Given the description of an element on the screen output the (x, y) to click on. 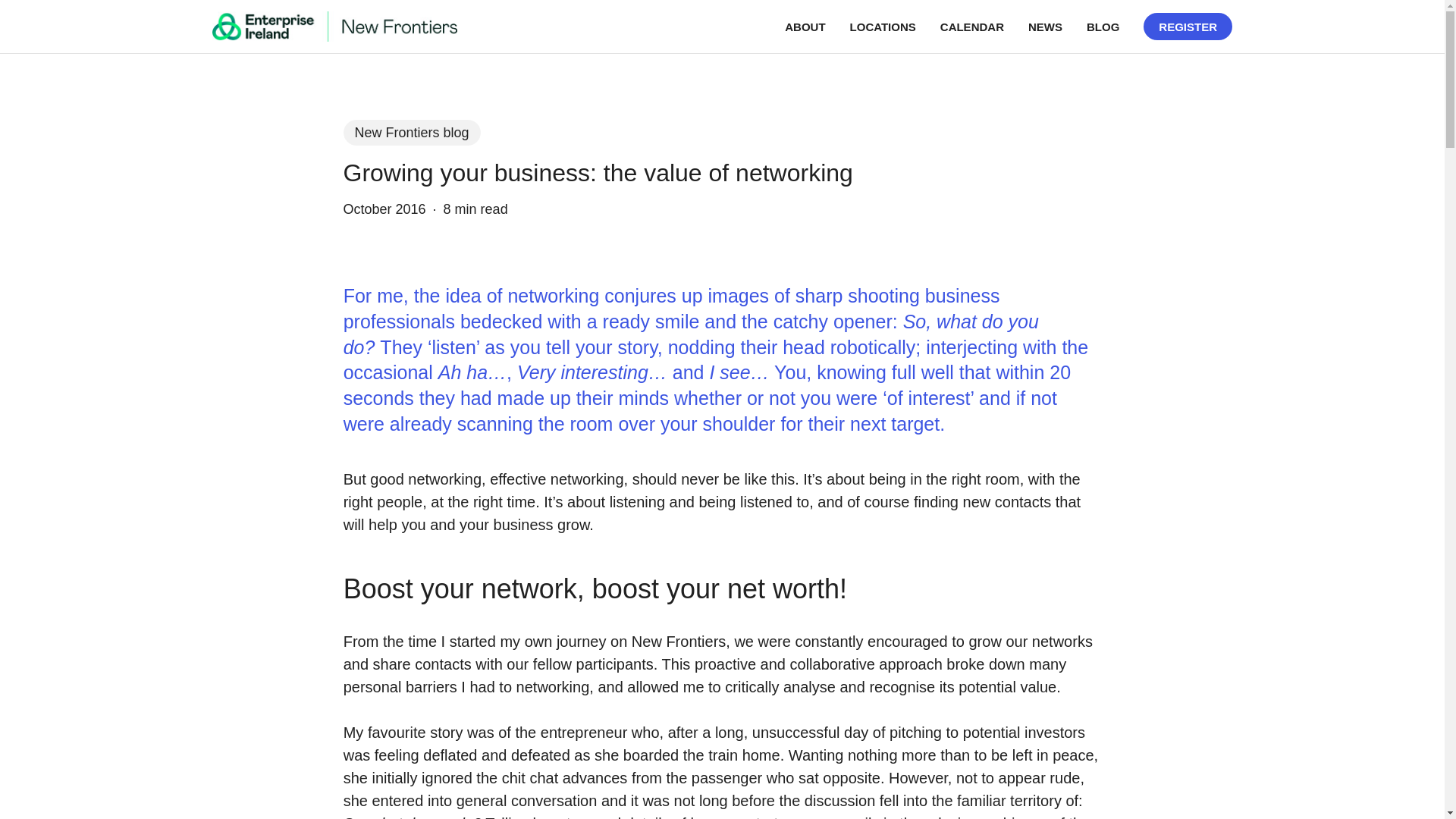
ABOUT (804, 26)
BLOG (1102, 26)
LOCATIONS (882, 26)
NEWS (1044, 26)
REGISTER (1186, 26)
New Frontiers blog (411, 132)
CALENDAR (972, 26)
